Given the description of an element on the screen output the (x, y) to click on. 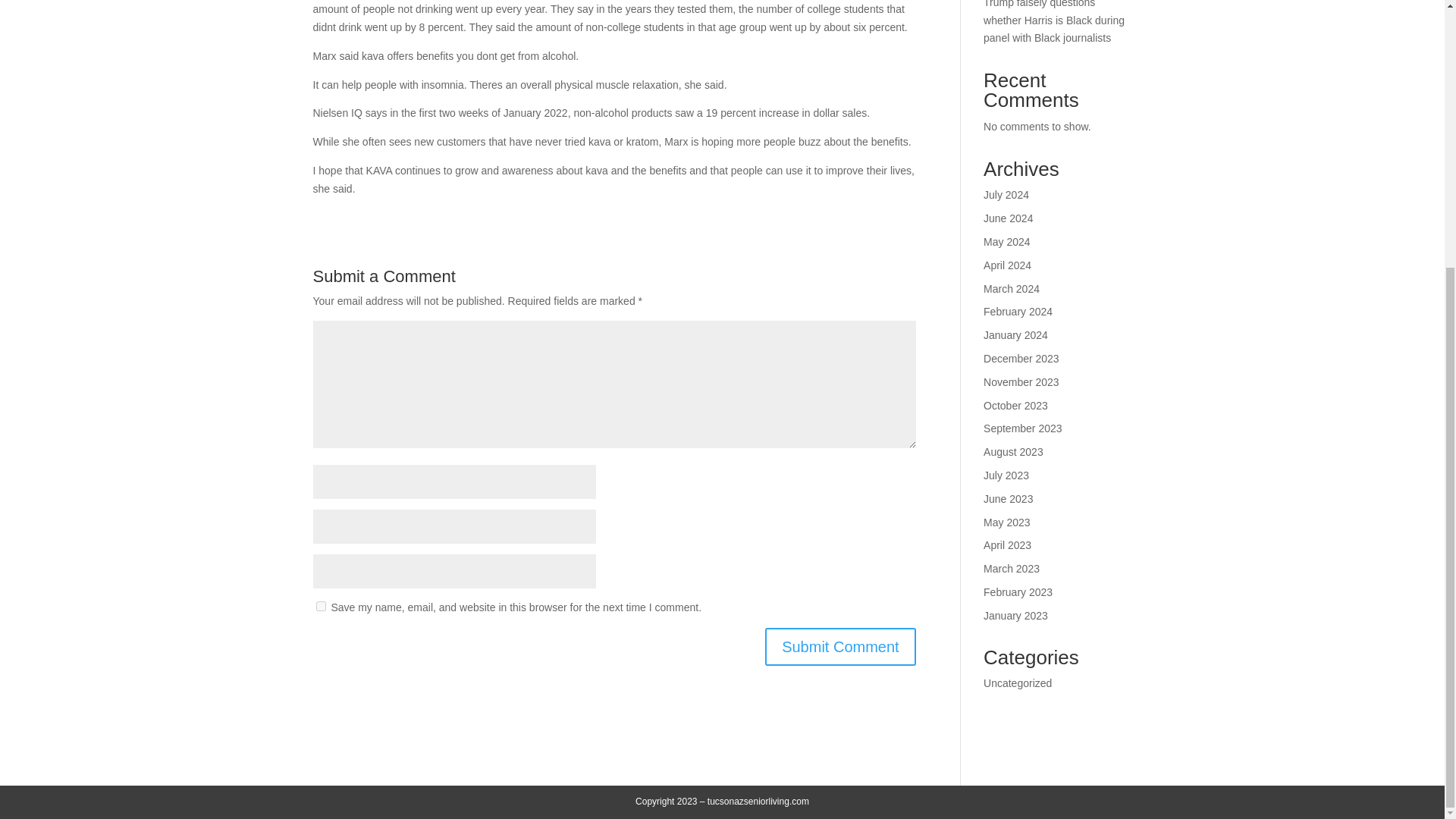
January 2024 (1016, 335)
July 2023 (1006, 475)
February 2024 (1018, 311)
May 2024 (1006, 241)
October 2023 (1016, 405)
July 2024 (1006, 194)
April 2023 (1007, 544)
September 2023 (1023, 428)
April 2024 (1007, 265)
February 2023 (1018, 592)
Submit Comment (840, 646)
yes (319, 605)
Uncategorized (1017, 683)
June 2023 (1008, 499)
